Given the description of an element on the screen output the (x, y) to click on. 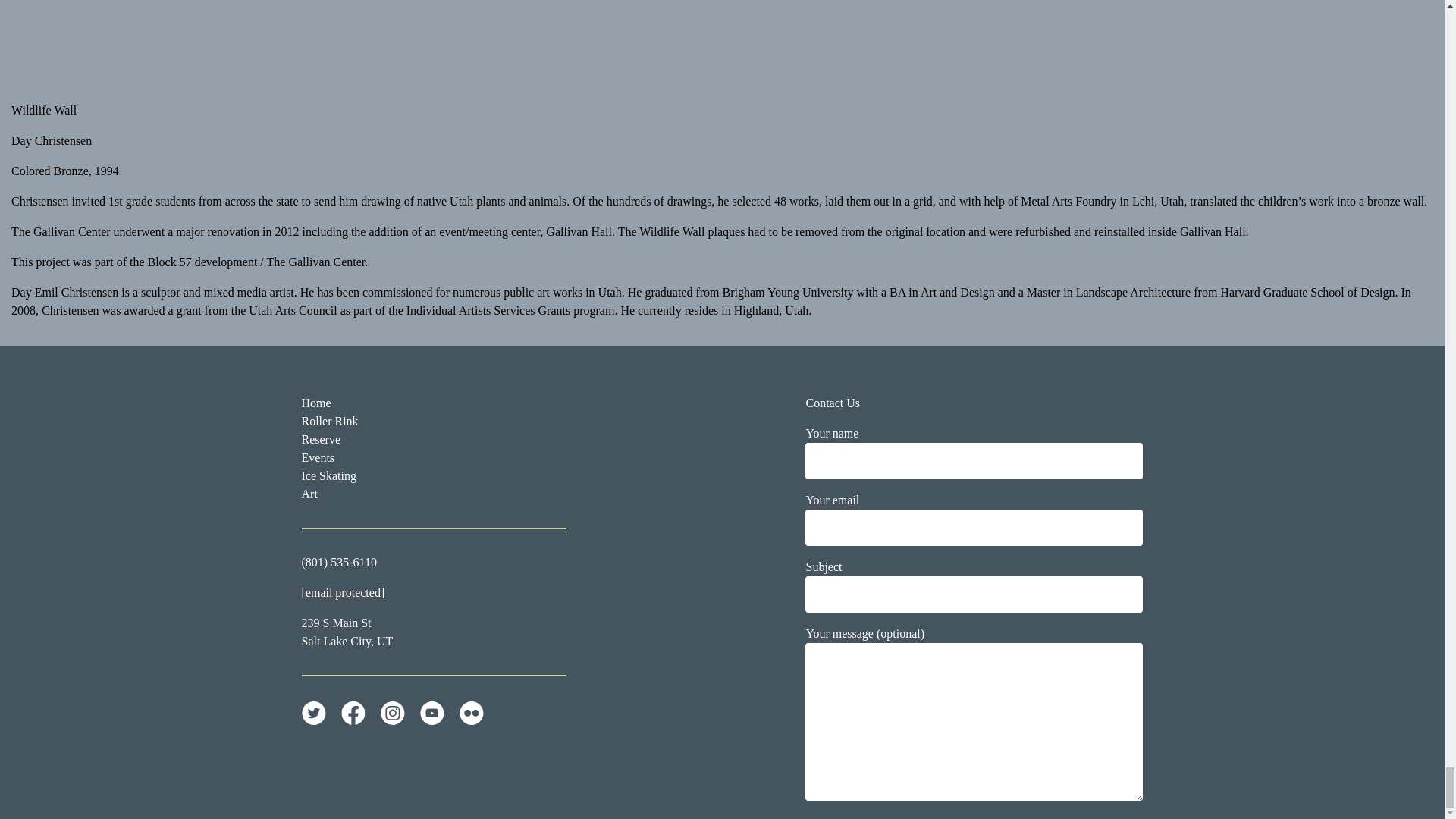
Reserve (320, 439)
Home (316, 402)
Events (317, 457)
Art (309, 493)
Roller Rink (329, 420)
Ice Skating (328, 475)
